Given the description of an element on the screen output the (x, y) to click on. 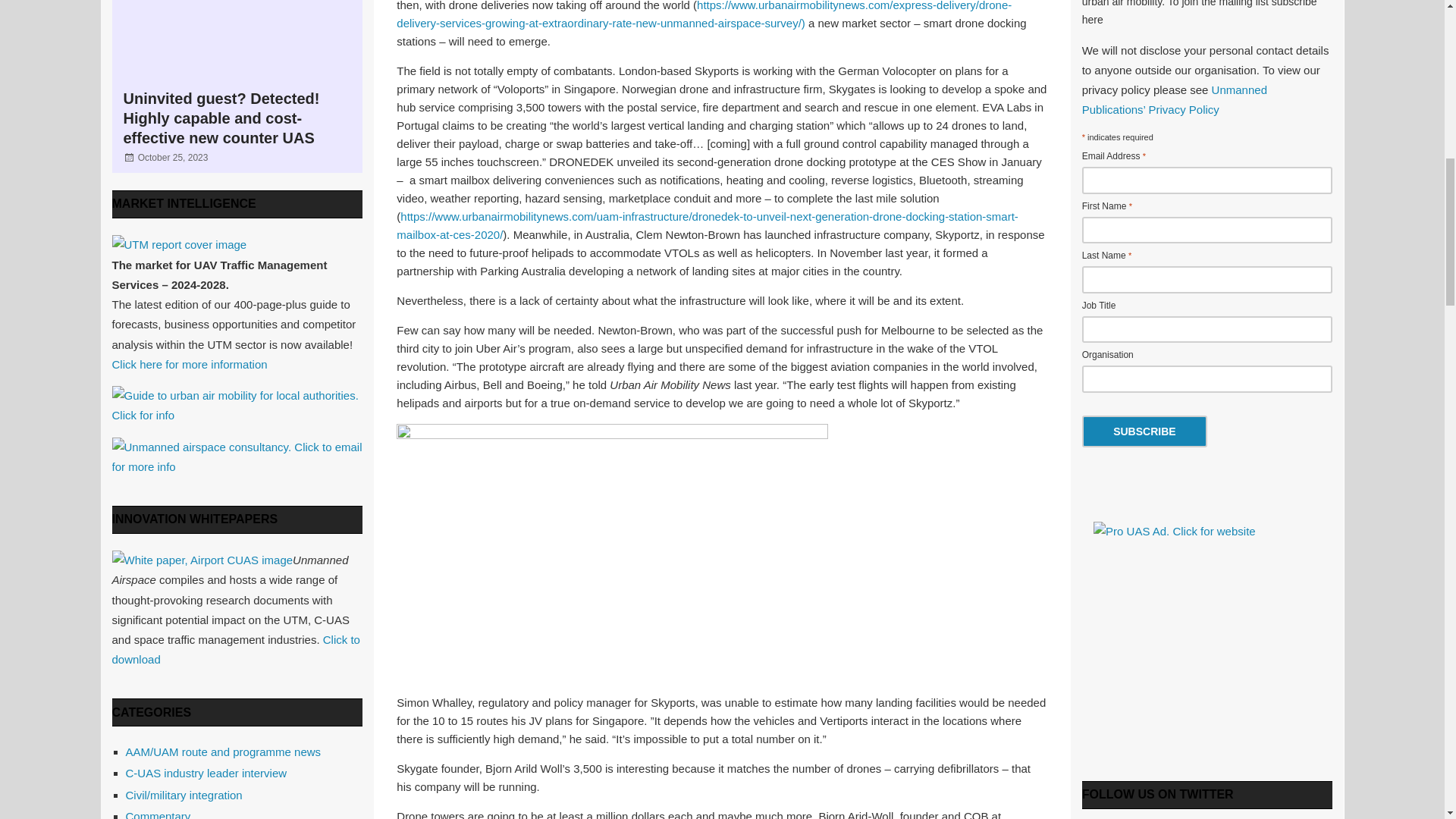
Subscribe (1144, 431)
9:33 am (173, 157)
